Given the description of an element on the screen output the (x, y) to click on. 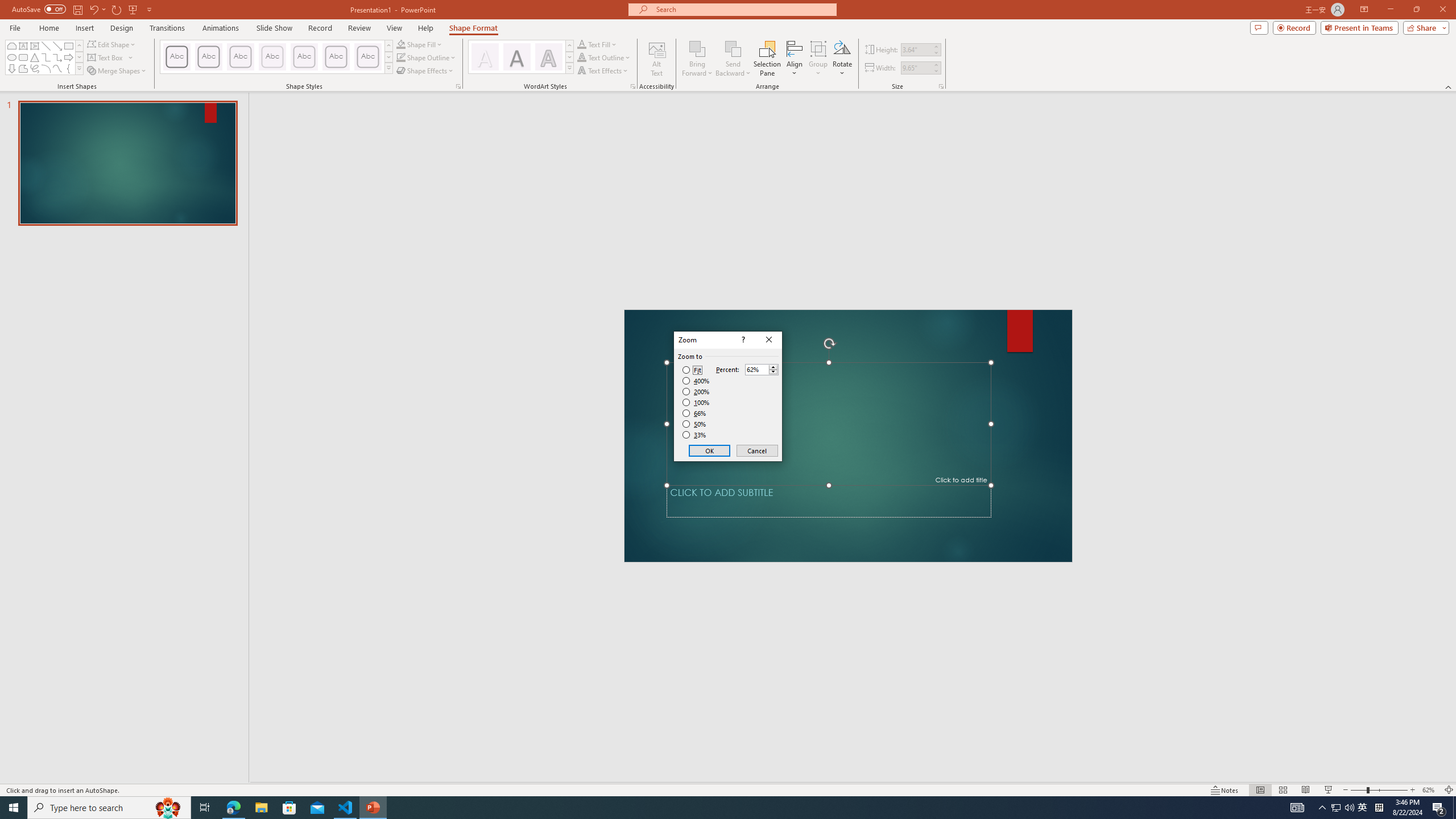
200% (696, 391)
100% (696, 402)
Colored Outline - Orange, Accent 2 (240, 56)
Text Outline RGB(0, 0, 0) (581, 56)
